Given the description of an element on the screen output the (x, y) to click on. 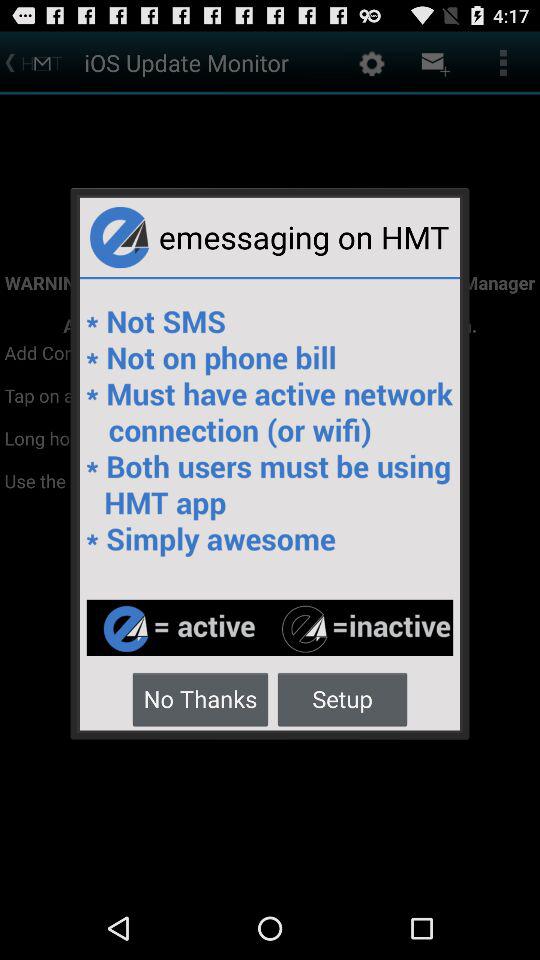
flip to setup item (342, 698)
